Given the description of an element on the screen output the (x, y) to click on. 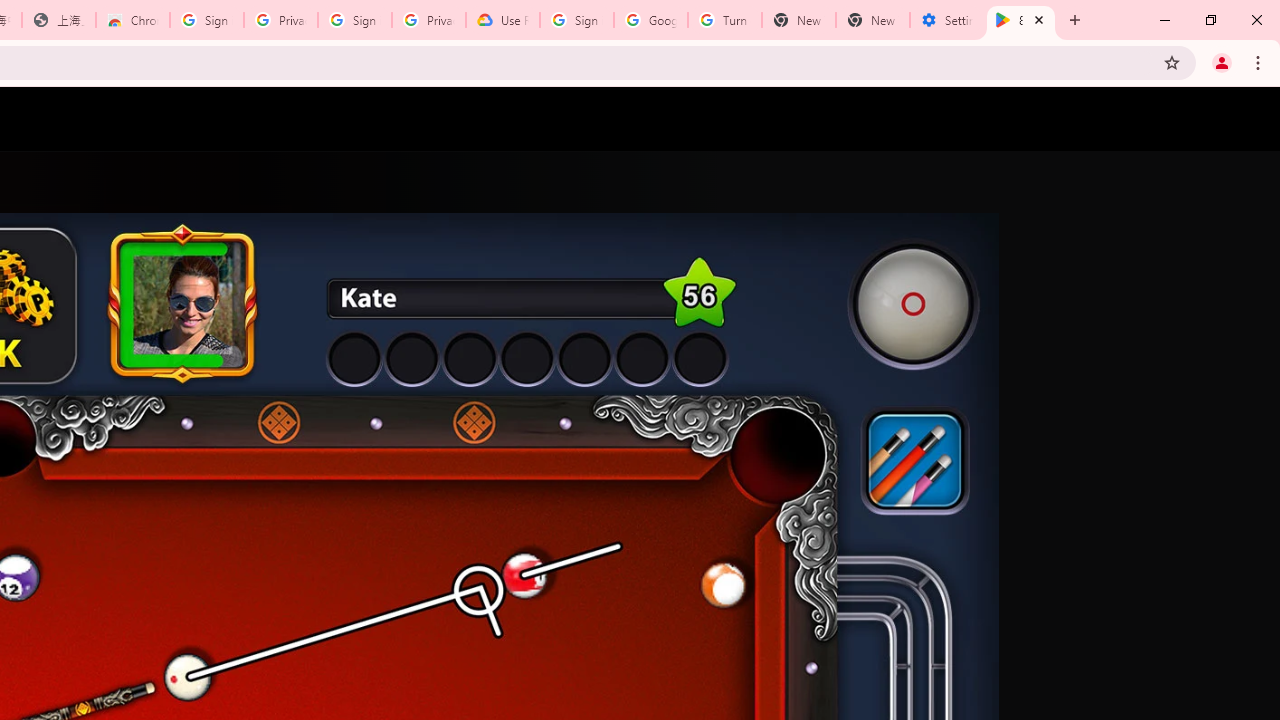
Settings - System (947, 20)
Sign in - Google Accounts (354, 20)
Sign in - Google Accounts (207, 20)
Help Center (1197, 119)
New Tab (872, 20)
8 Ball Pool - Apps on Google Play (1021, 20)
Google Account Help (651, 20)
